Given the description of an element on the screen output the (x, y) to click on. 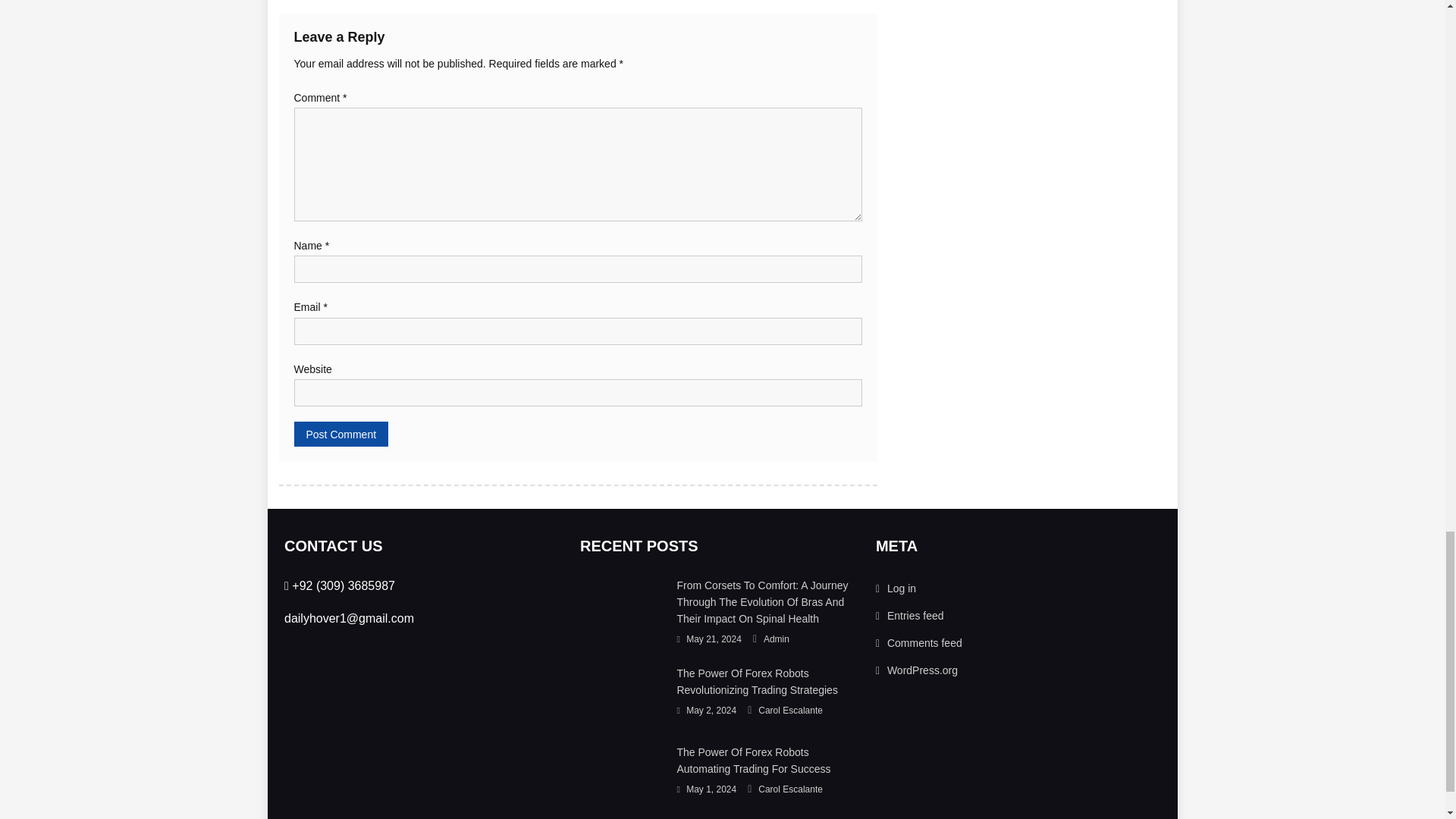
Post Comment (341, 433)
